Given the description of an element on the screen output the (x, y) to click on. 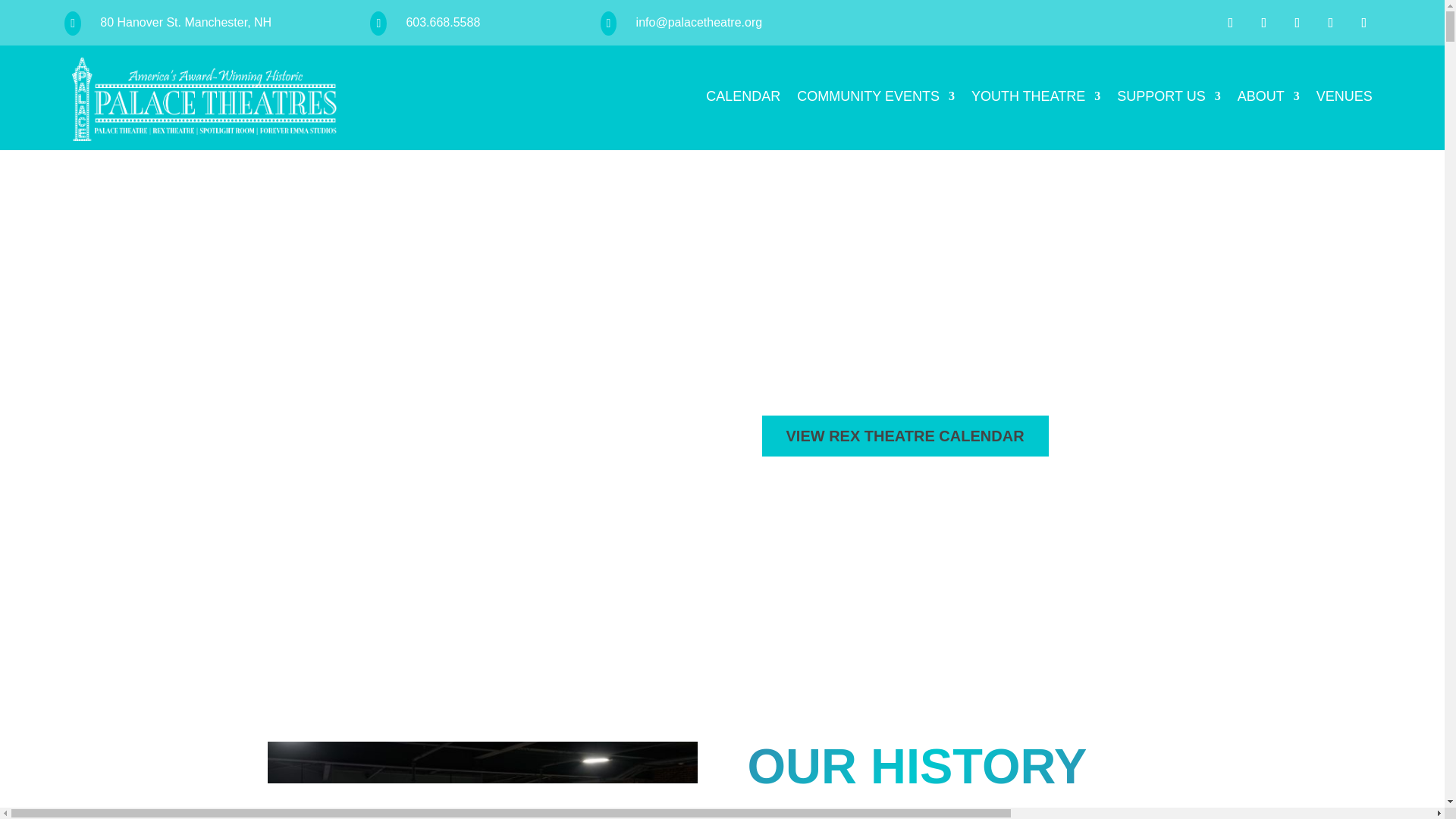
Palace Theatres wide logo small text simplified WHITE (204, 98)
ABOUT (1268, 98)
YOUTH THEATRE (1035, 98)
80 Hanover St. Manchester, NH (185, 21)
SUPPORT US (1168, 98)
603.668.5588 (443, 21)
Follow on X (1297, 22)
CALENDAR (743, 98)
VENUES (1344, 98)
Follow on Facebook (1230, 22)
